Given the description of an element on the screen output the (x, y) to click on. 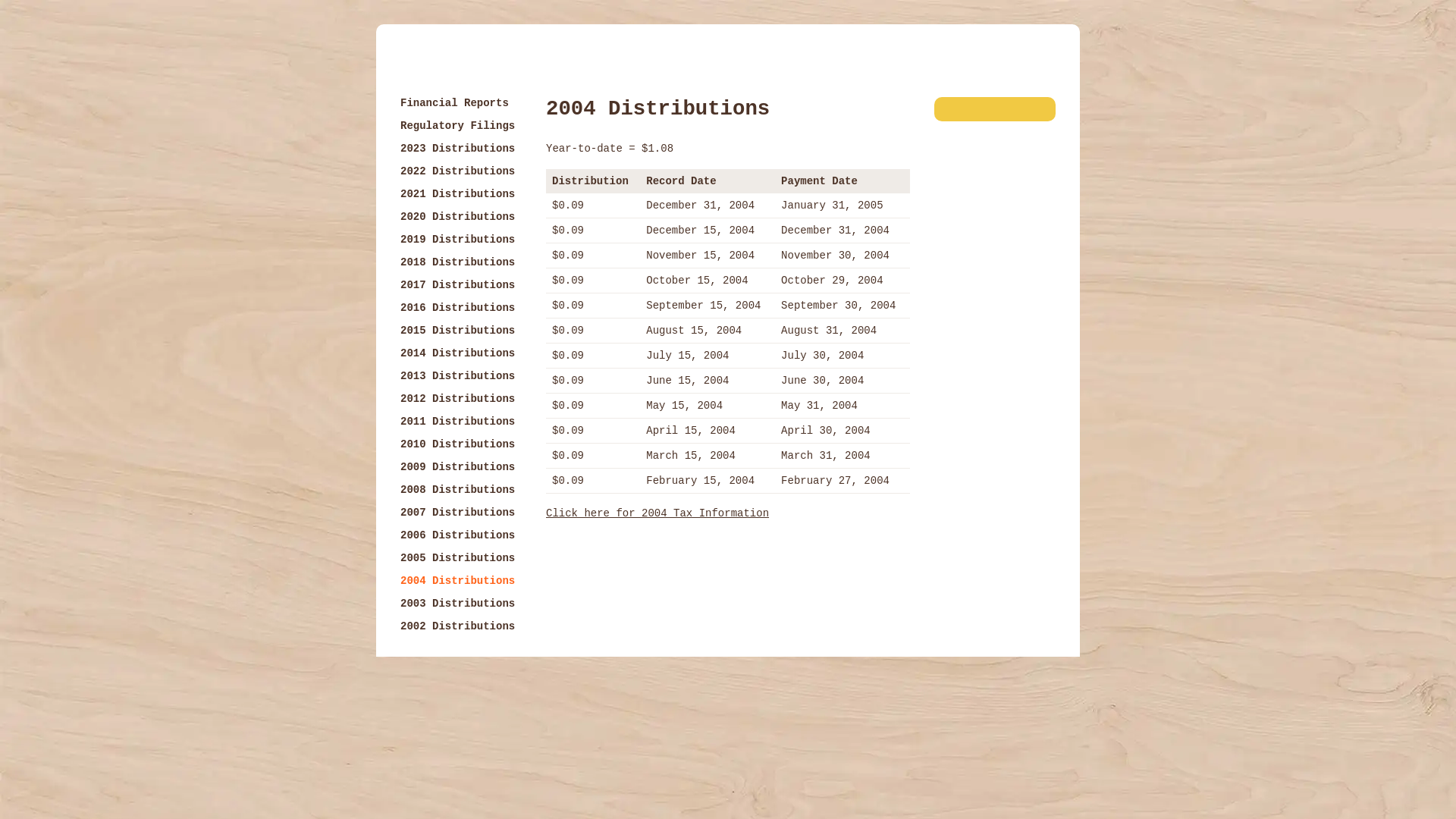
2017 Distributions Element type: text (457, 285)
2005 Distributions Element type: text (457, 558)
2022 Distributions Element type: text (457, 171)
2007 Distributions Element type: text (457, 512)
2016 Distributions Element type: text (457, 307)
2006 Distributions Element type: text (457, 535)
2019 Distributions Element type: text (457, 239)
2009 Distributions Element type: text (457, 467)
Click here for 2004 Tax Information Element type: text (657, 513)
Financial Reports Element type: text (454, 103)
2013 Distributions Element type: text (457, 376)
Regulatory Filings Element type: text (457, 125)
2023 Distributions Element type: text (457, 148)
2014 Distributions Element type: text (457, 353)
2010 Distributions Element type: text (457, 444)
2015 Distributions Element type: text (457, 330)
2002 Distributions Element type: text (457, 626)
2018 Distributions Element type: text (457, 262)
2004 Distributions Element type: text (457, 580)
2020 Distributions Element type: text (457, 216)
2011 Distributions Element type: text (457, 421)
2021 Distributions Element type: text (457, 194)
2012 Distributions Element type: text (457, 398)
2003 Distributions Element type: text (457, 603)
2008 Distributions Element type: text (457, 489)
